Given the description of an element on the screen output the (x, y) to click on. 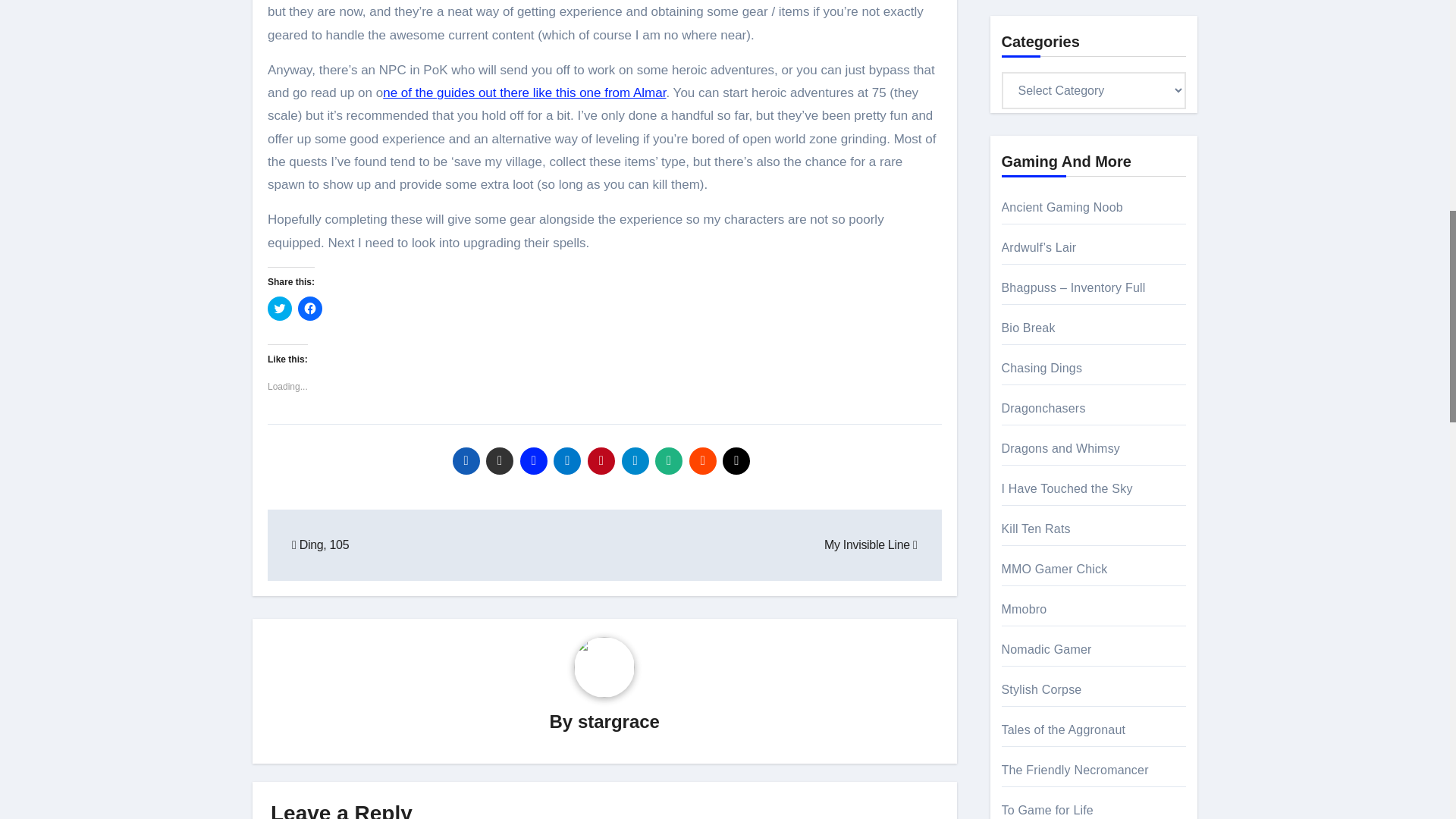
ne of the guides out there like this one from Almar (523, 92)
Click to share on Twitter (279, 308)
Click to share on Facebook (309, 308)
